Given the description of an element on the screen output the (x, y) to click on. 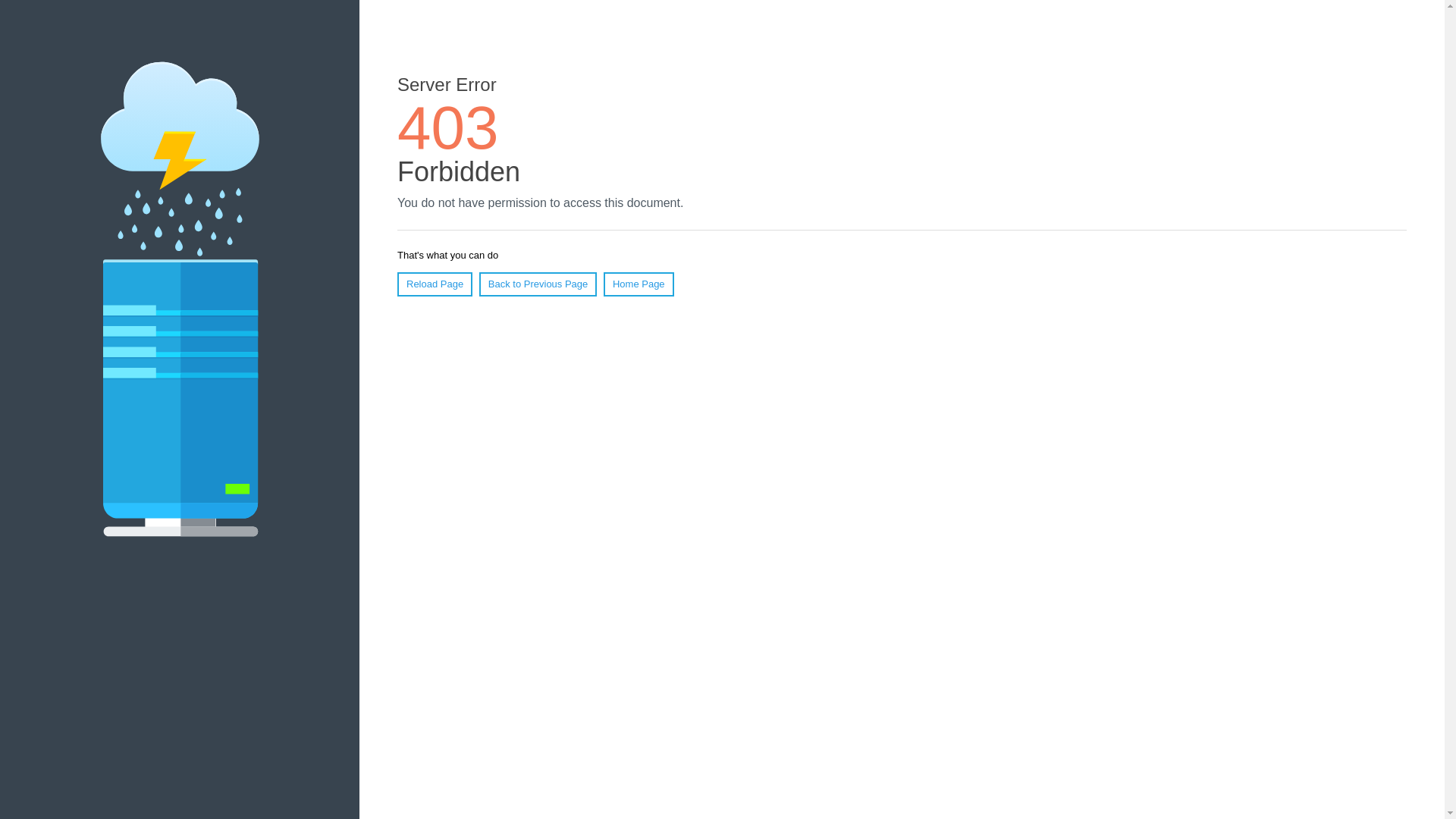
Back to Previous Page Element type: text (538, 284)
Reload Page Element type: text (434, 284)
Home Page Element type: text (638, 284)
